Given the description of an element on the screen output the (x, y) to click on. 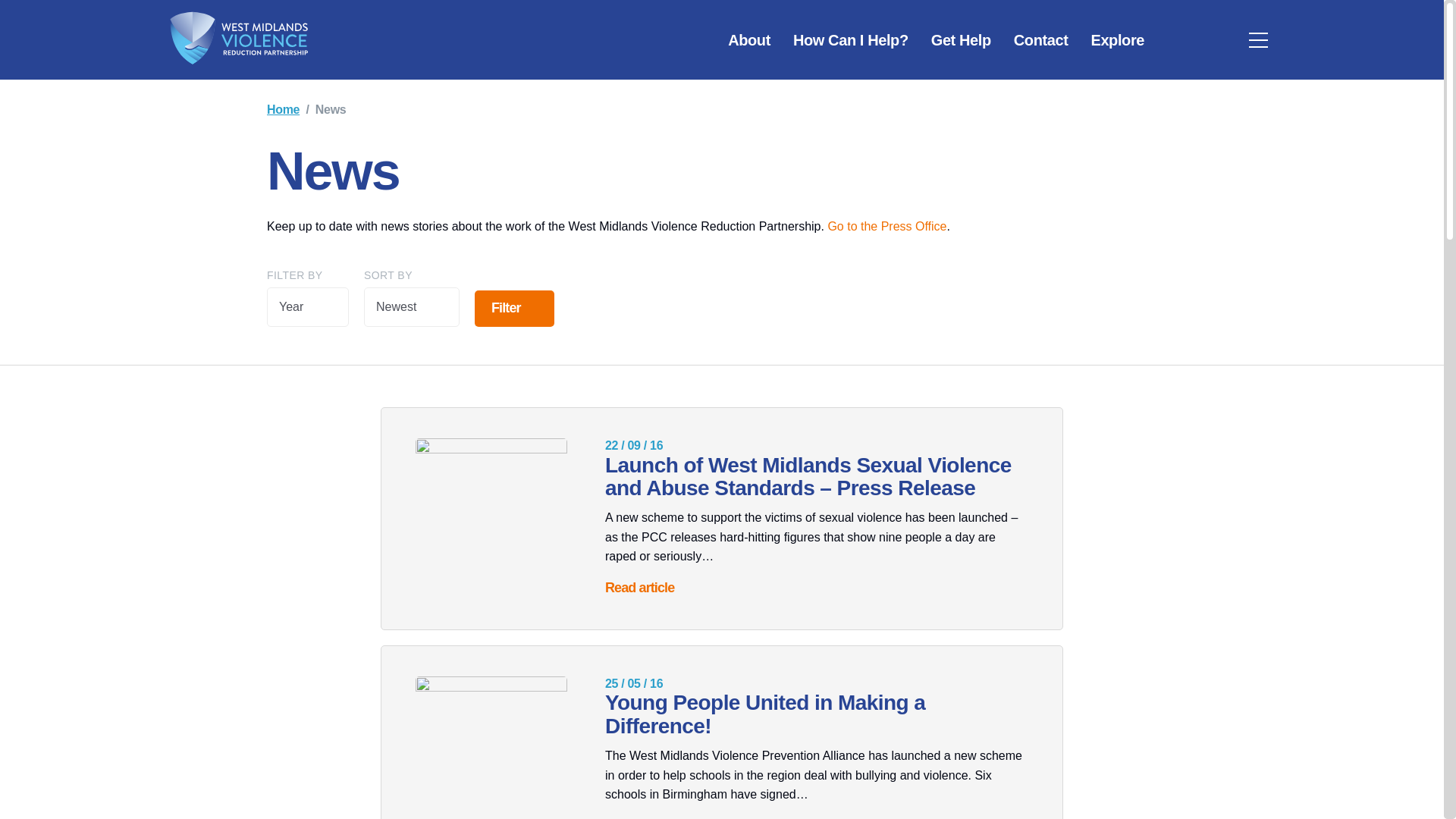
Explore (1117, 39)
About (748, 39)
Contact (1041, 39)
Get Help (961, 39)
How Can I Help? (850, 39)
